Given the description of an element on the screen output the (x, y) to click on. 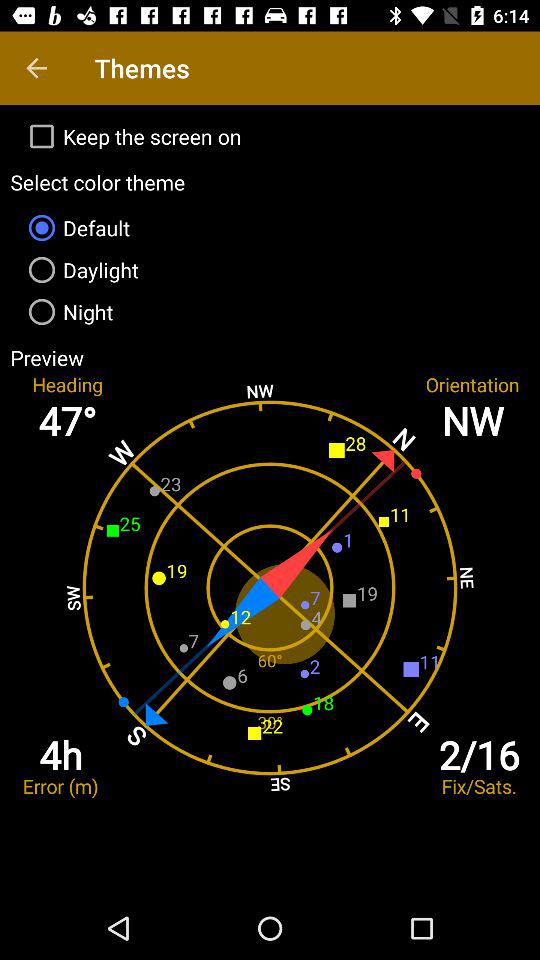
choose daylight item (270, 269)
